Given the description of an element on the screen output the (x, y) to click on. 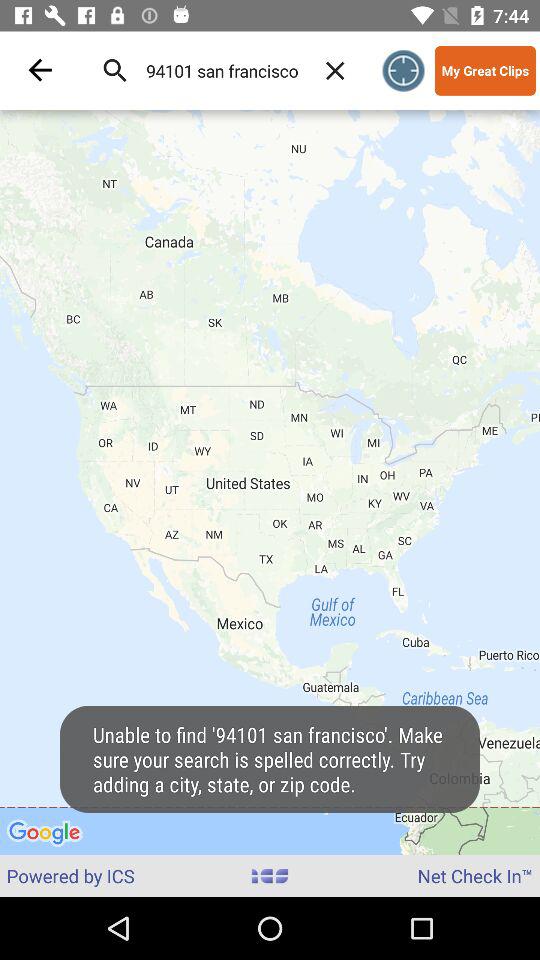
launch 94101 san francisco item (222, 70)
